Given the description of an element on the screen output the (x, y) to click on. 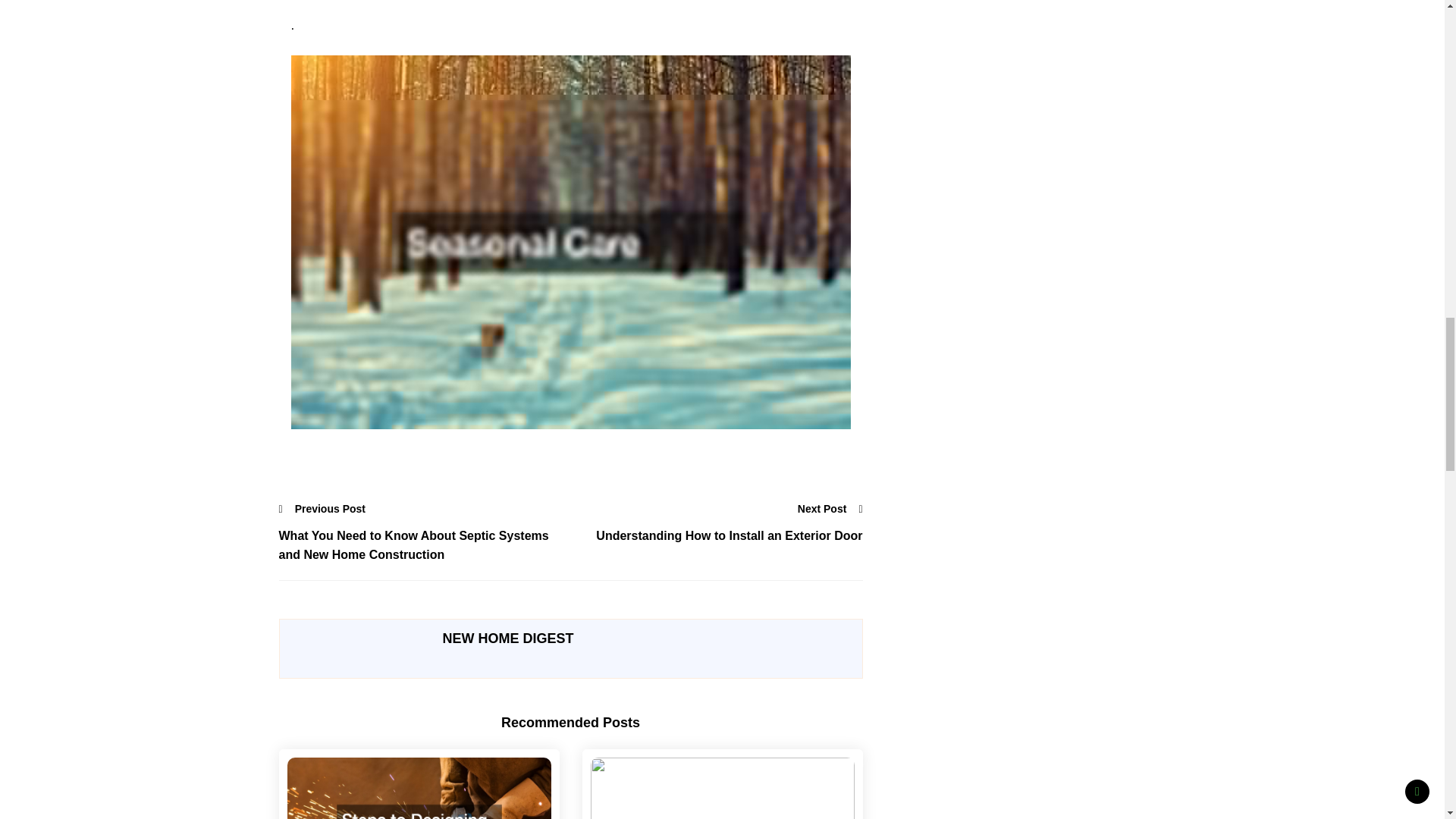
Next Post (830, 508)
Understanding How to Install an Exterior Door (715, 536)
Previous Post (322, 508)
